Given the description of an element on the screen output the (x, y) to click on. 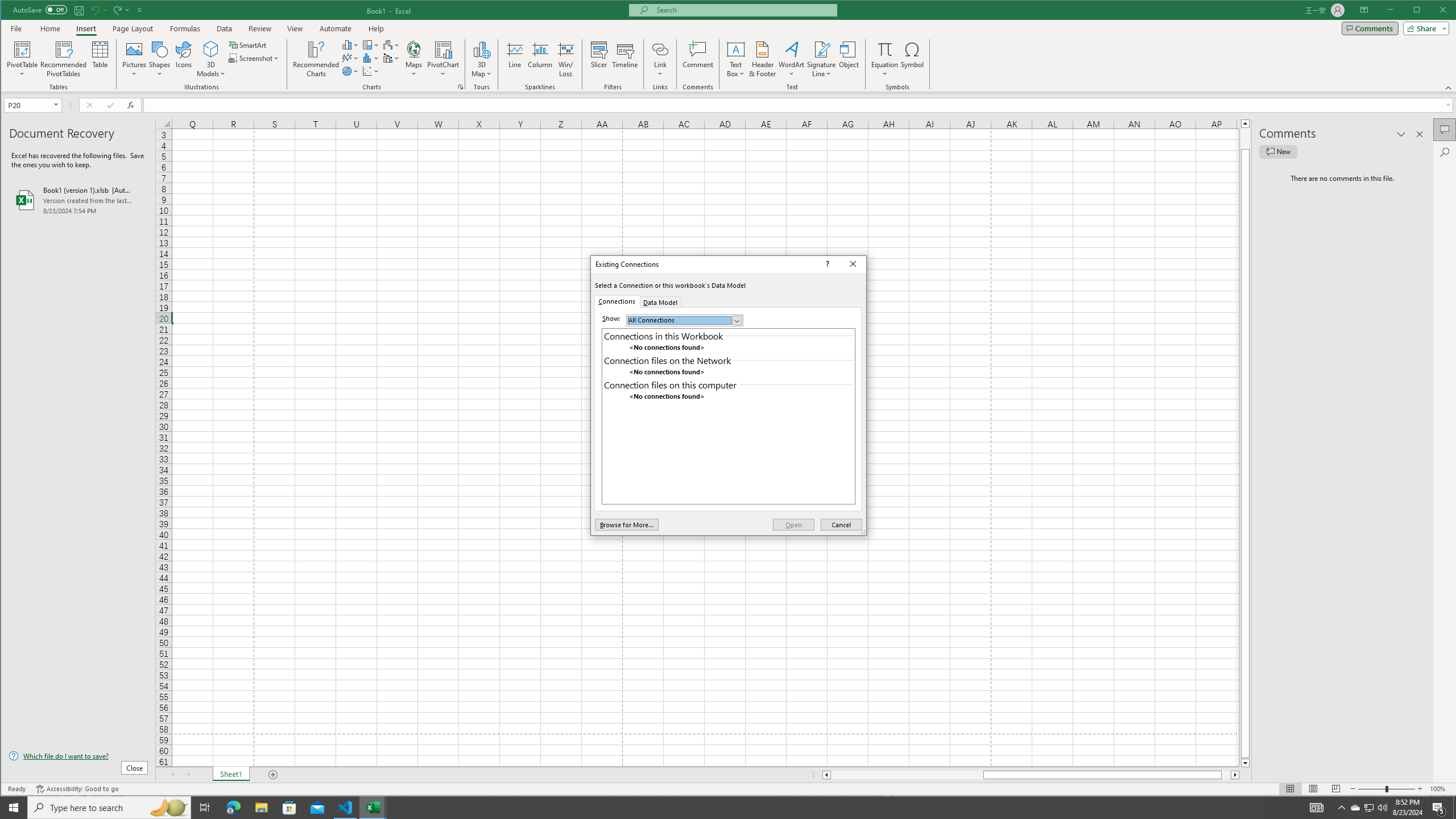
Context help (826, 263)
